Given the description of an element on the screen output the (x, y) to click on. 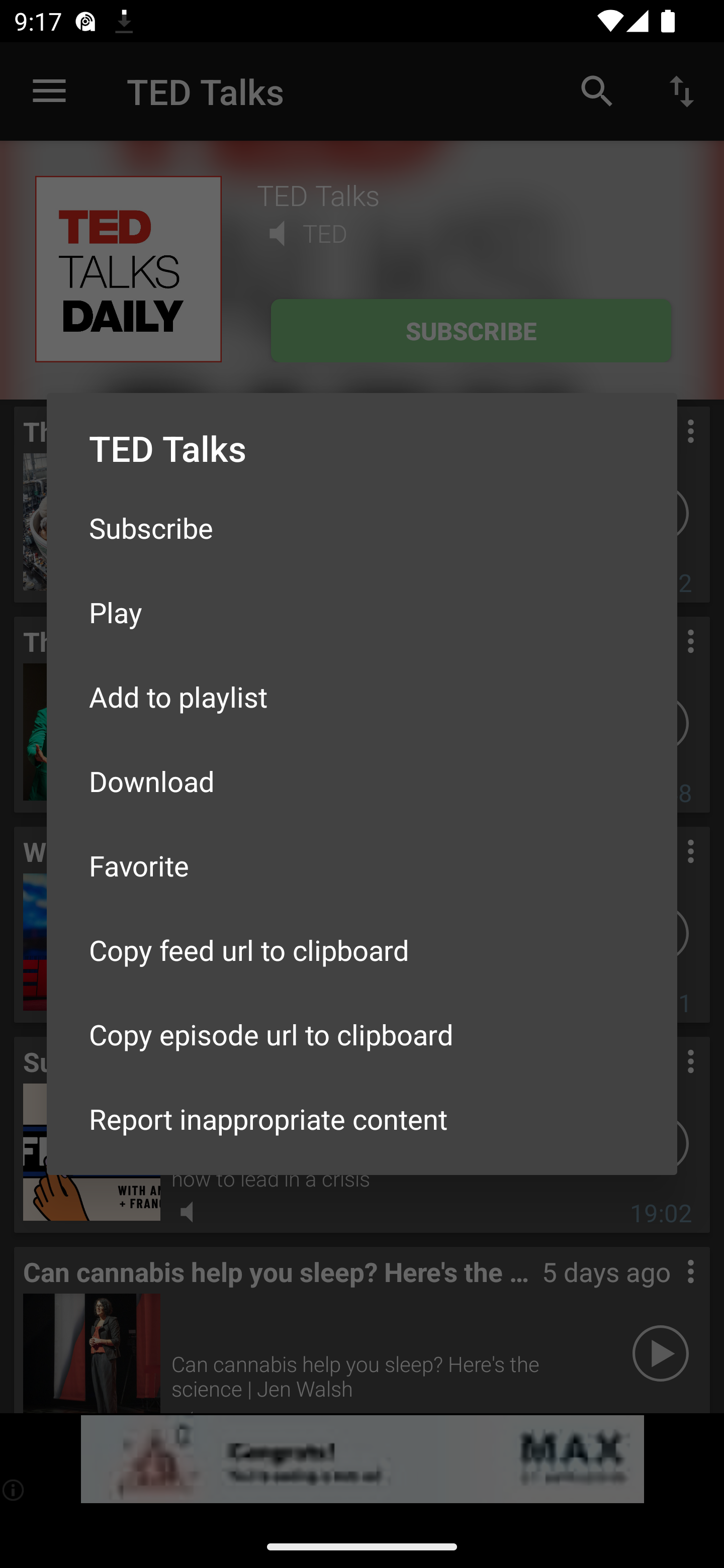
Subscribe (361, 527)
Play (361, 611)
Add to playlist (361, 695)
Download (361, 780)
Favorite (361, 865)
Copy feed url to clipboard (361, 949)
Copy episode url to clipboard (361, 1034)
Report inappropriate content (361, 1118)
